Given the description of an element on the screen output the (x, y) to click on. 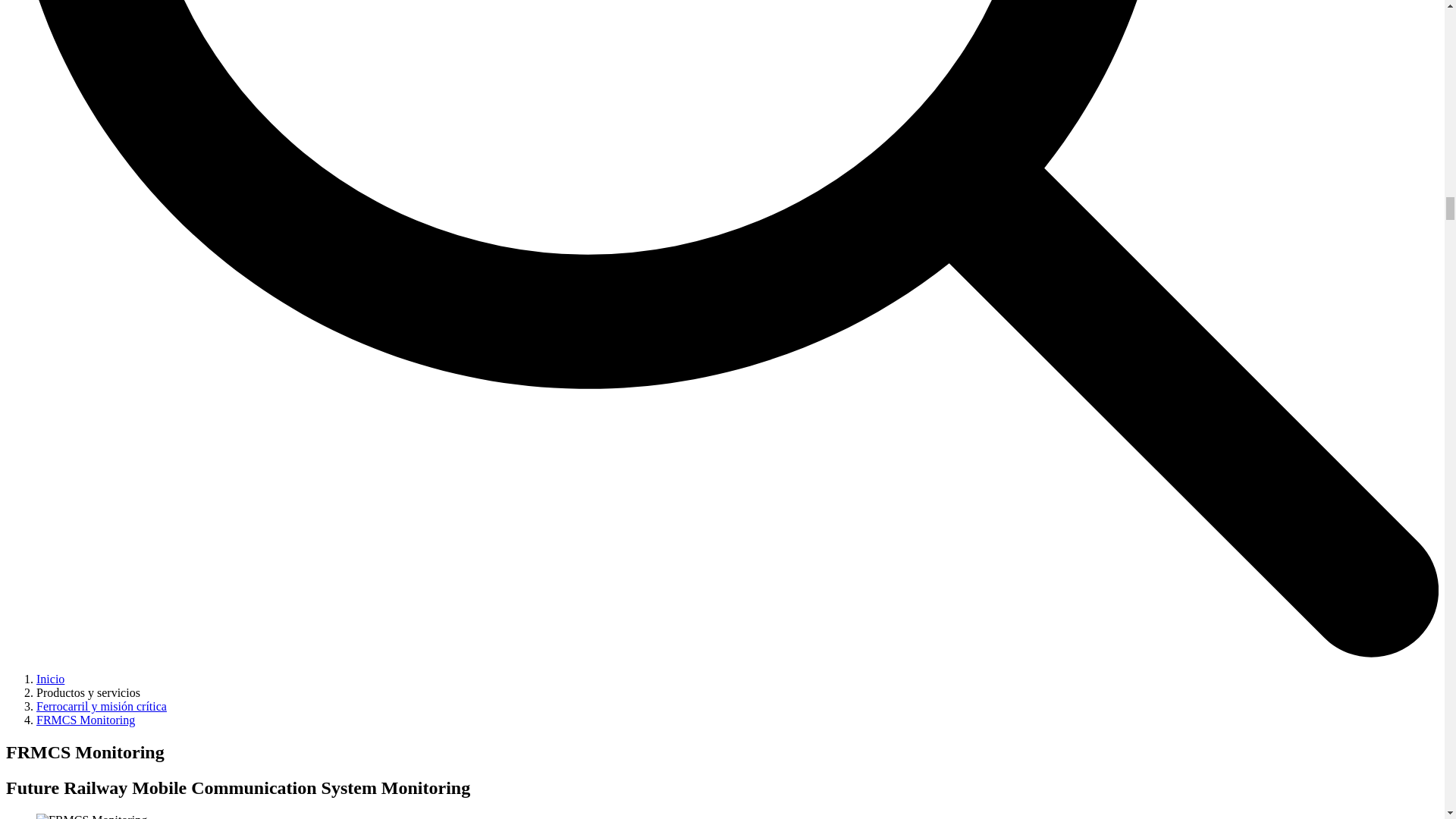
FRMCS Monitoring (91, 816)
